Given the description of an element on the screen output the (x, y) to click on. 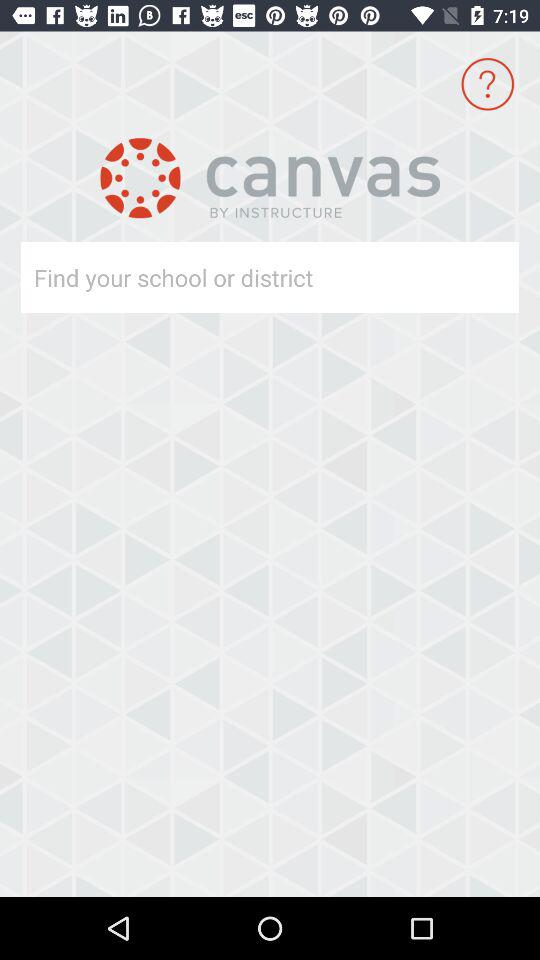
find your school or district (234, 277)
